Given the description of an element on the screen output the (x, y) to click on. 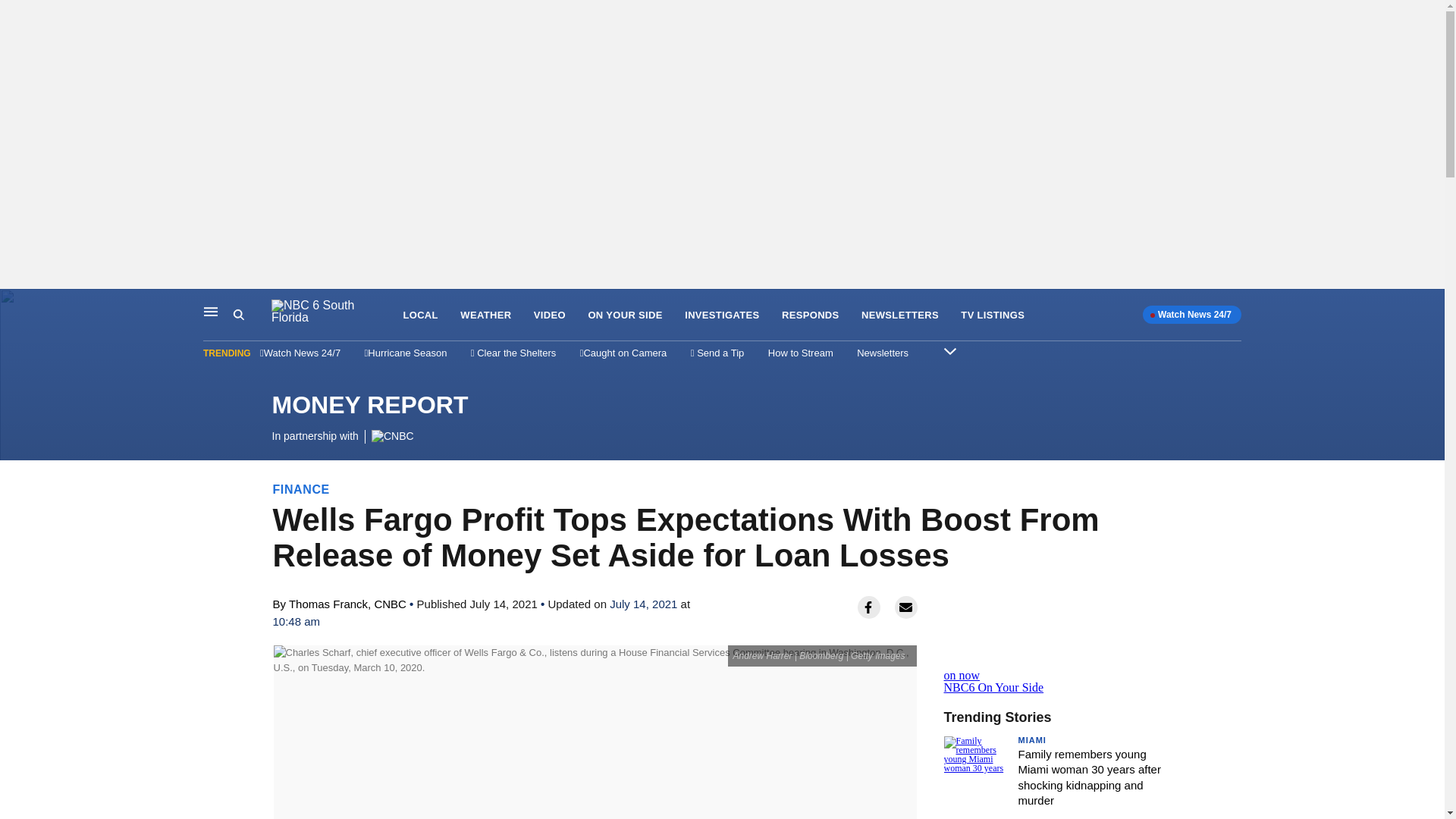
Search (252, 314)
Skip to content (16, 304)
Search (238, 314)
FINANCE (301, 489)
Newsletters (882, 352)
LOCAL (420, 315)
NEWSLETTERS (900, 315)
WEATHER (485, 315)
Expand (949, 350)
VIDEO (550, 315)
